Given the description of an element on the screen output the (x, y) to click on. 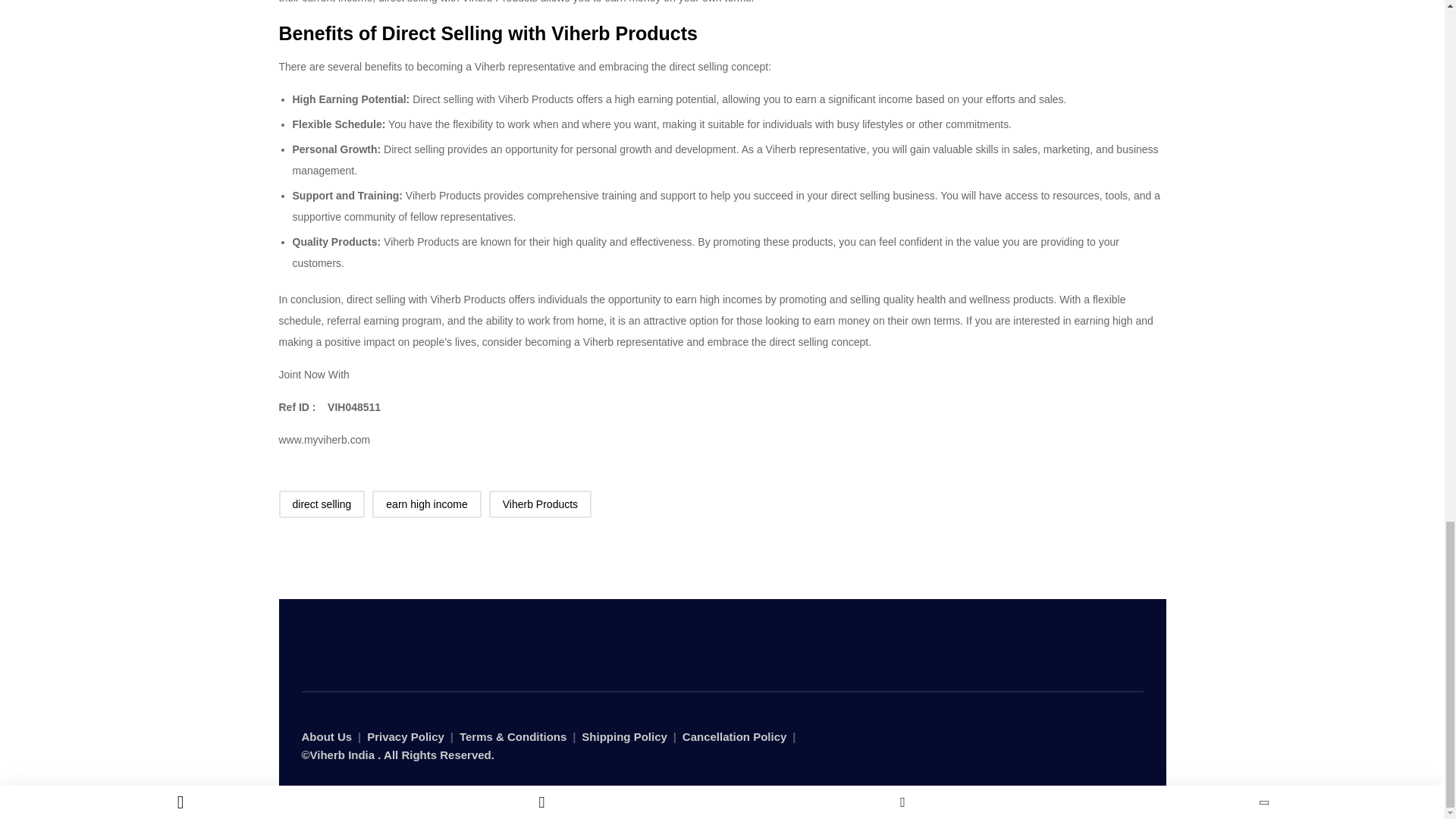
Shipping Policy (623, 737)
Cancellation Policy (734, 737)
earn high income (426, 503)
Viherb Products (540, 503)
www.myviherb.com  (325, 439)
Viherb Products (467, 299)
Privacy Policy (405, 737)
About Us (326, 737)
direct selling (322, 503)
